Given the description of an element on the screen output the (x, y) to click on. 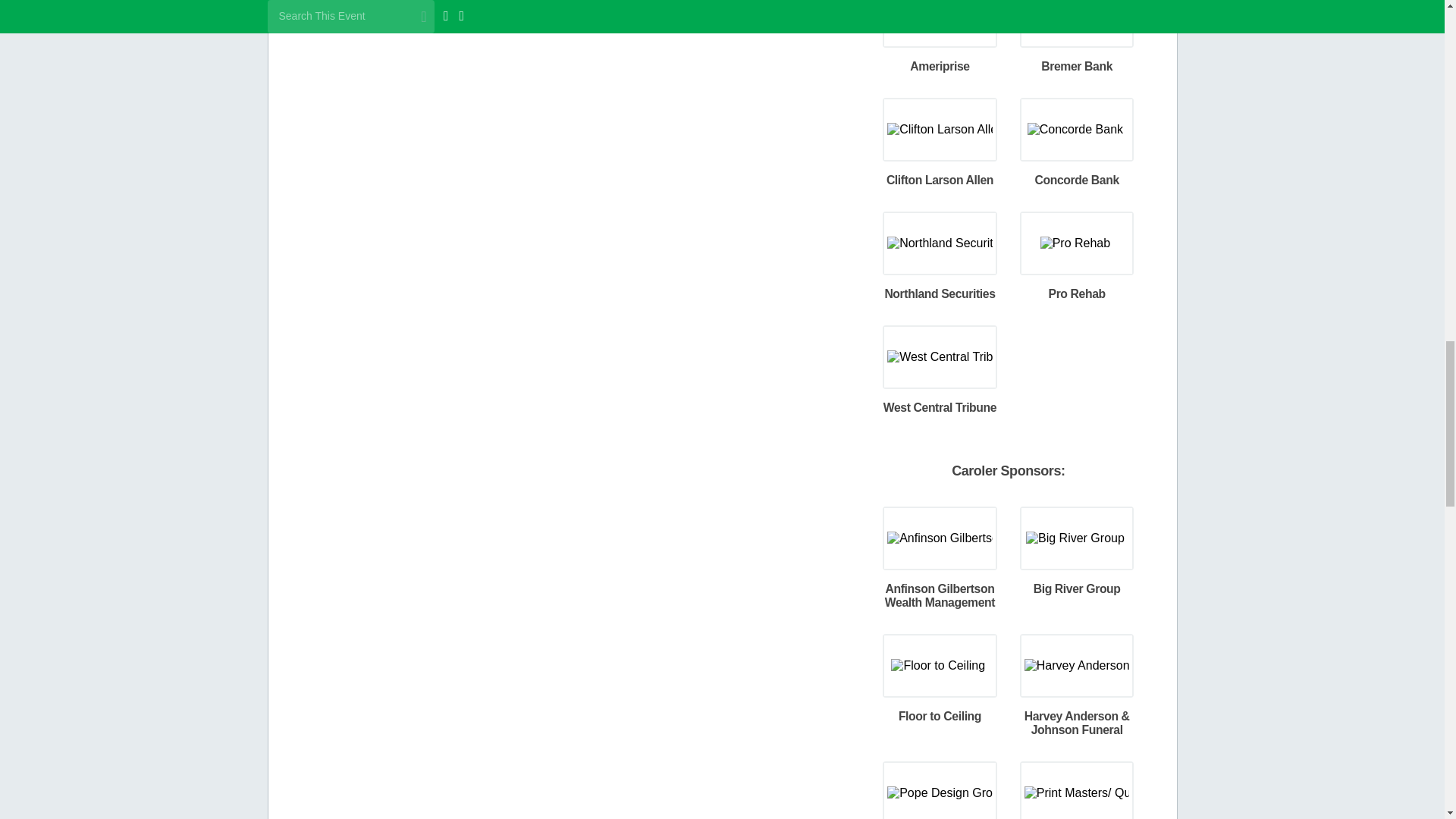
West Central Tribune (940, 355)
Ameriprise (939, 14)
Pope Design Group (940, 791)
Northland Securities (940, 241)
Floor to Ceiling (939, 664)
Anfinson Gilbertson Wealth Management (940, 536)
Pro Rehab (1077, 241)
Big River Group (1076, 536)
Concorde Bank (1076, 128)
Clifton Larson Allen (940, 128)
